Given the description of an element on the screen output the (x, y) to click on. 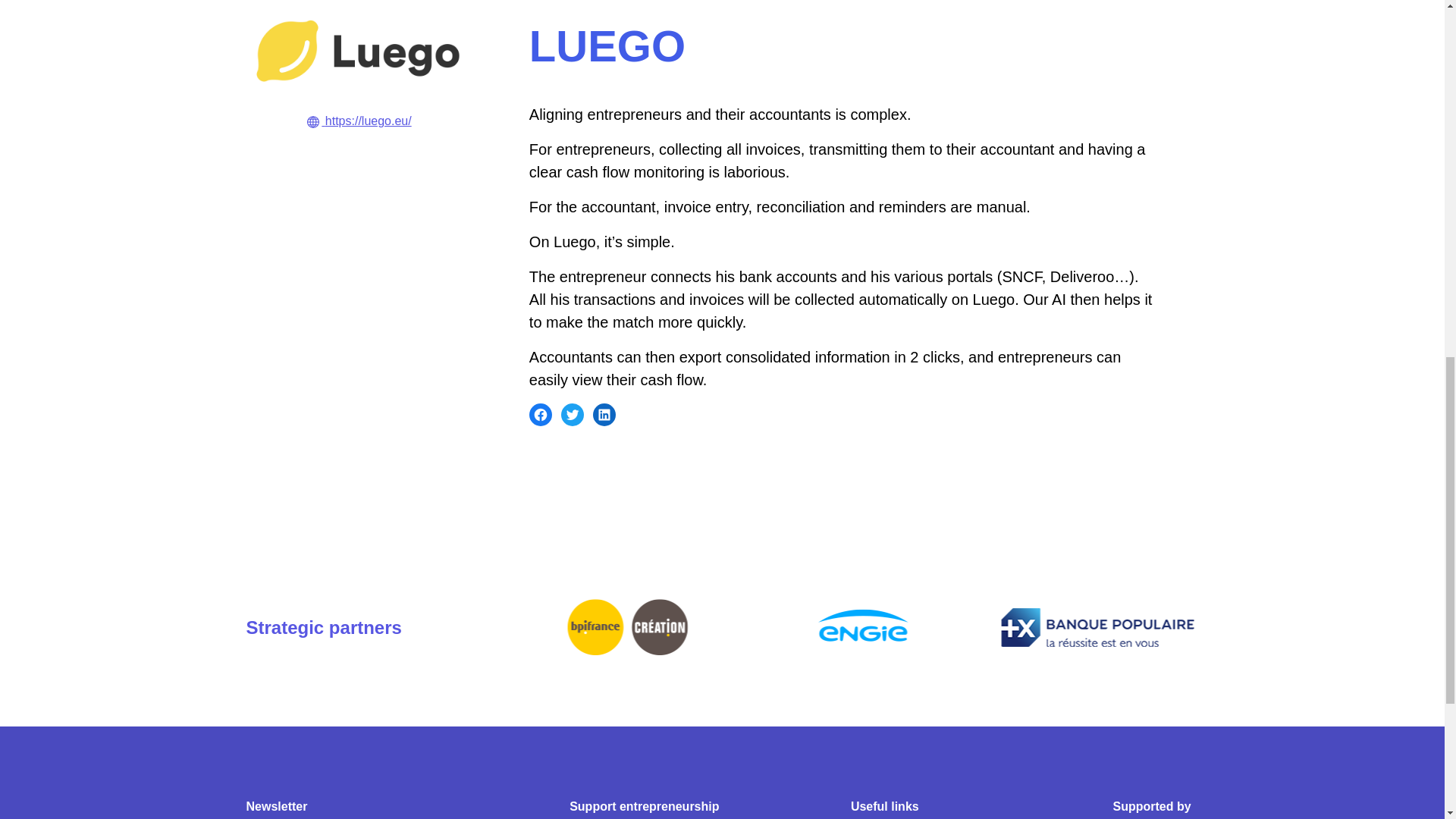
Facebook (540, 414)
Twitter (571, 414)
LinkedIn (603, 414)
